Given the description of an element on the screen output the (x, y) to click on. 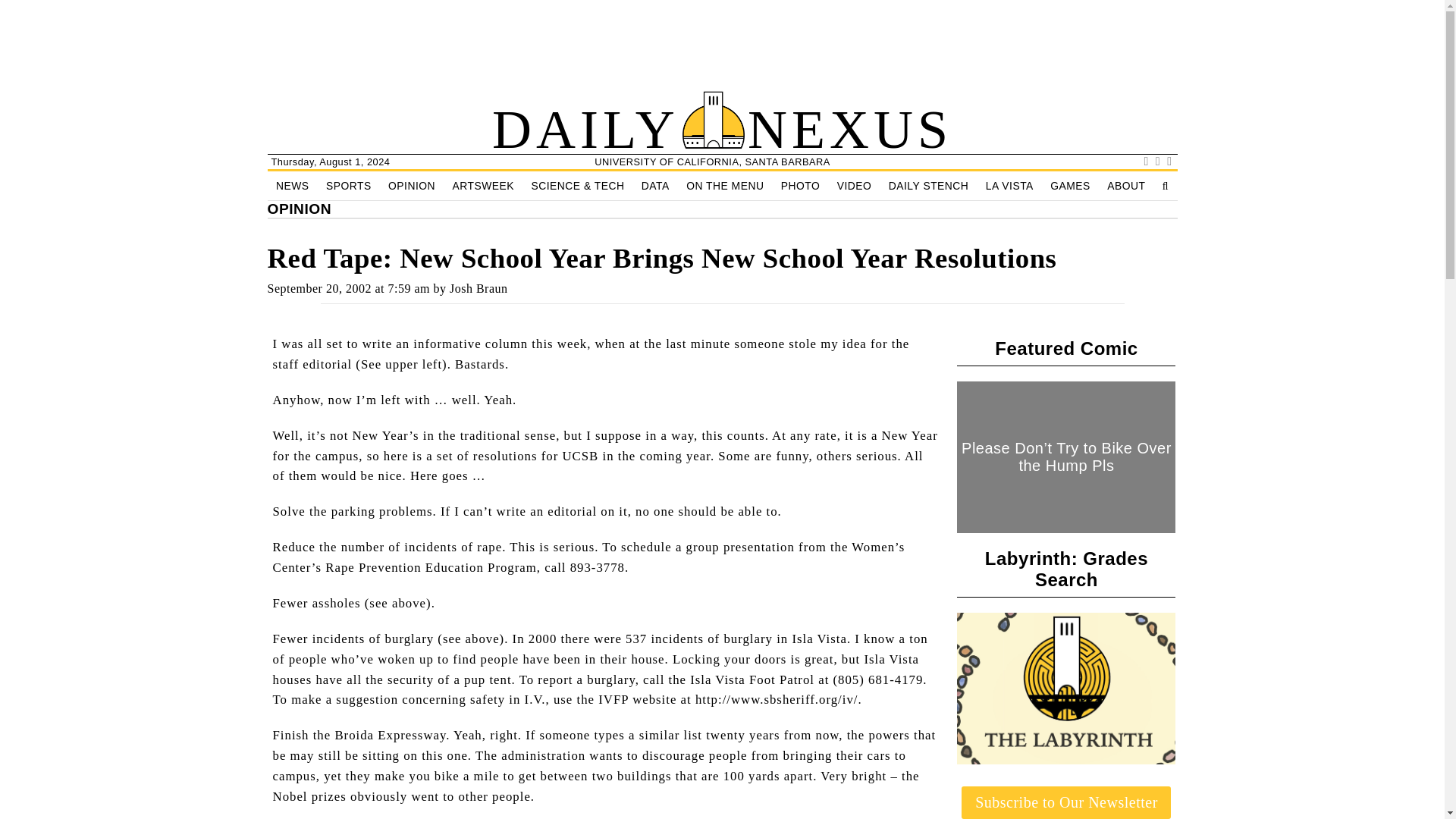
Posts by Josh Braun (478, 287)
